Given the description of an element on the screen output the (x, y) to click on. 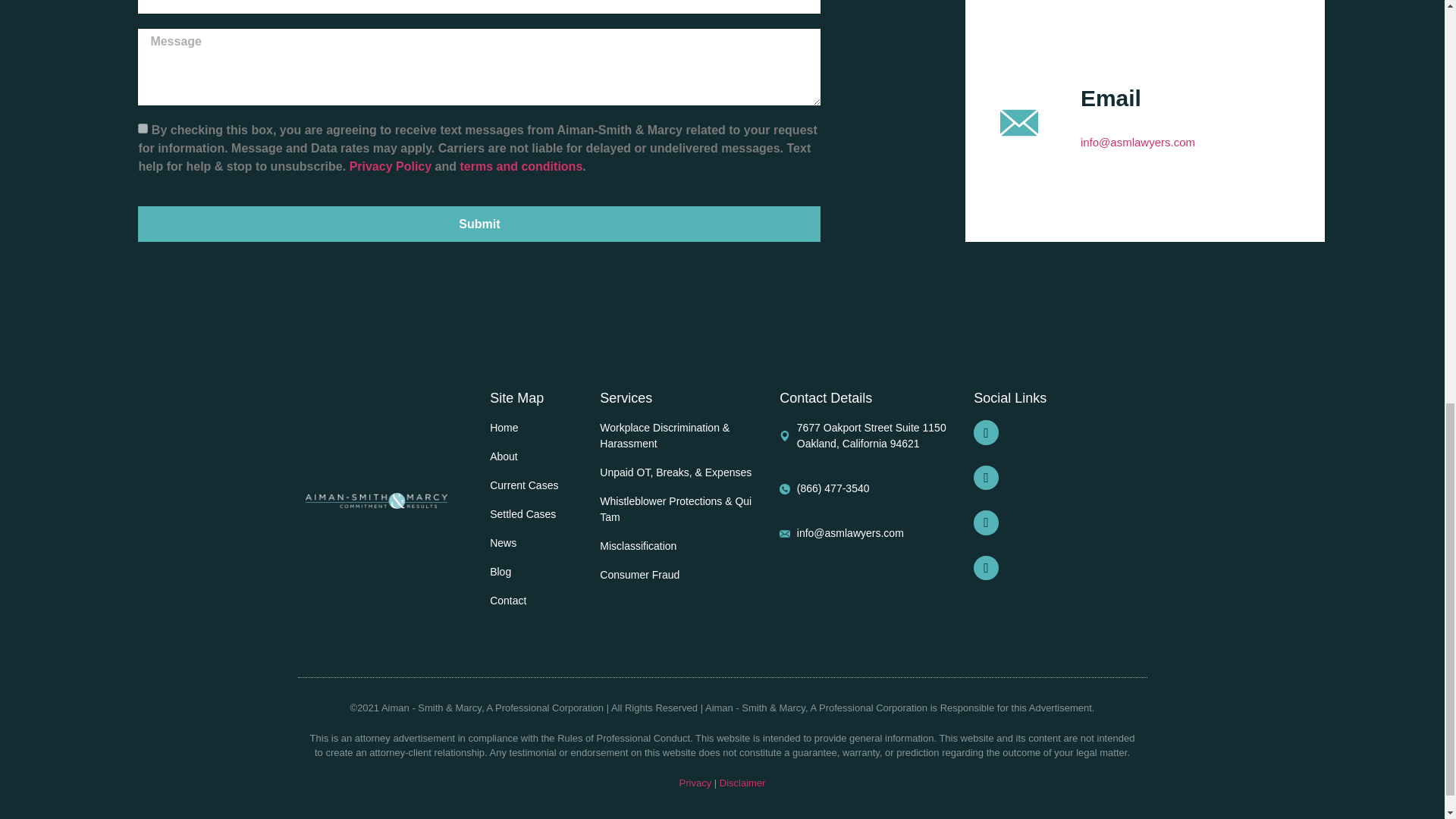
terms and conditions (521, 165)
Privacy Policy (392, 165)
